Given the description of an element on the screen output the (x, y) to click on. 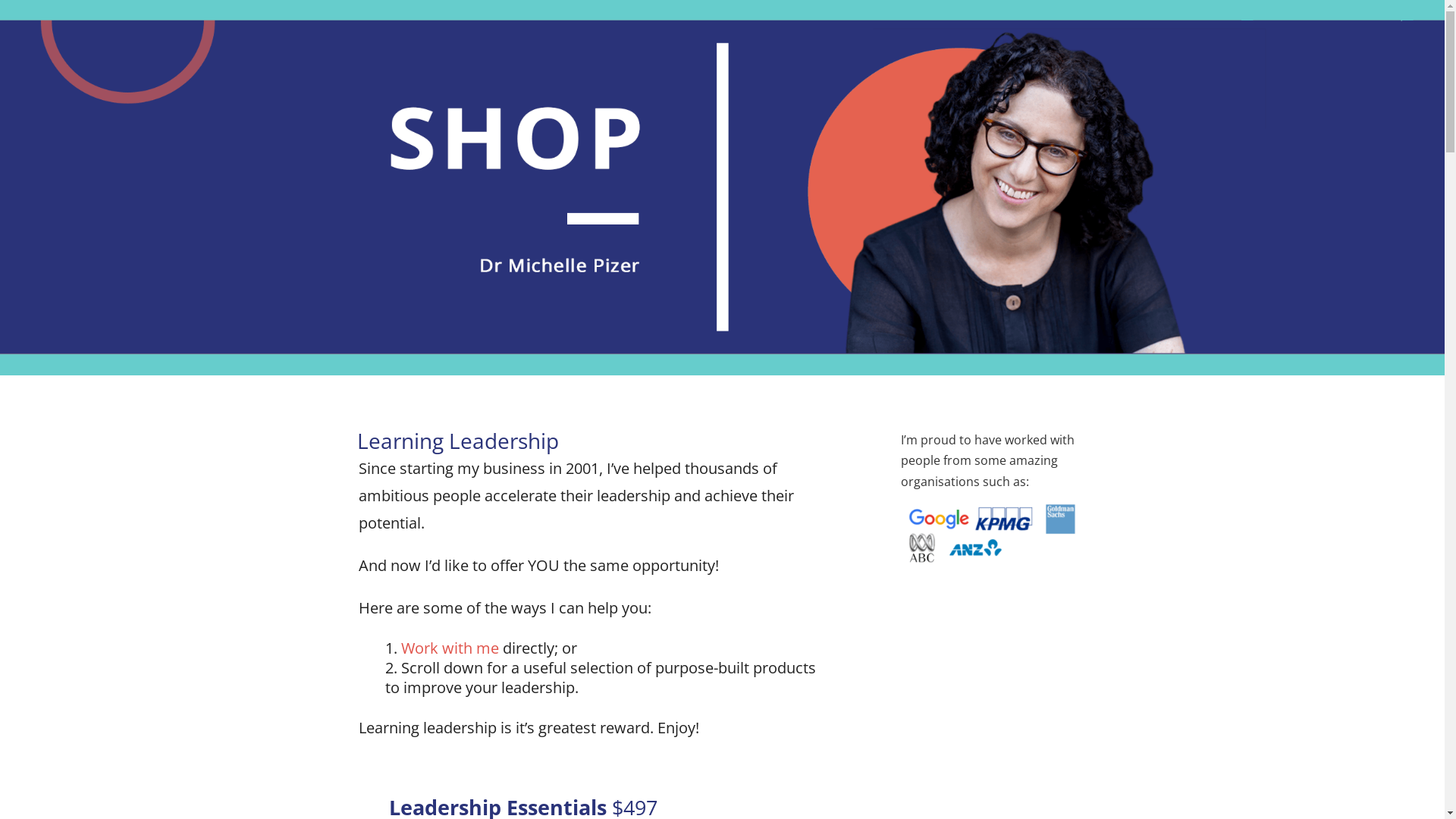
Work with me Element type: text (449, 647)
